Given the description of an element on the screen output the (x, y) to click on. 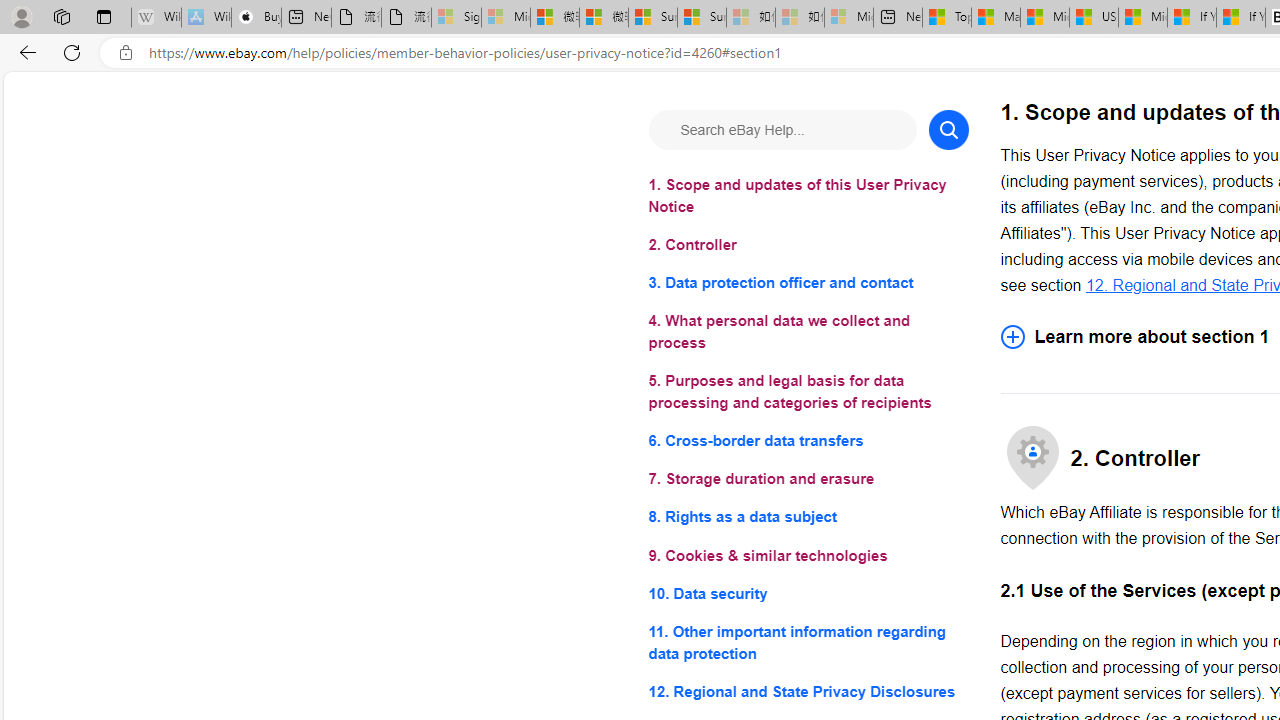
3. Data protection officer and contact (807, 283)
6. Cross-border data transfers (807, 440)
Sign in to your Microsoft account - Sleeping (456, 17)
7. Storage duration and erasure (807, 479)
11. Other important information regarding data protection (807, 642)
12. Regional and State Privacy Disclosures (807, 690)
9. Cookies & similar technologies (807, 555)
11. Other important information regarding data protection (807, 642)
7. Storage duration and erasure (807, 479)
